Given the description of an element on the screen output the (x, y) to click on. 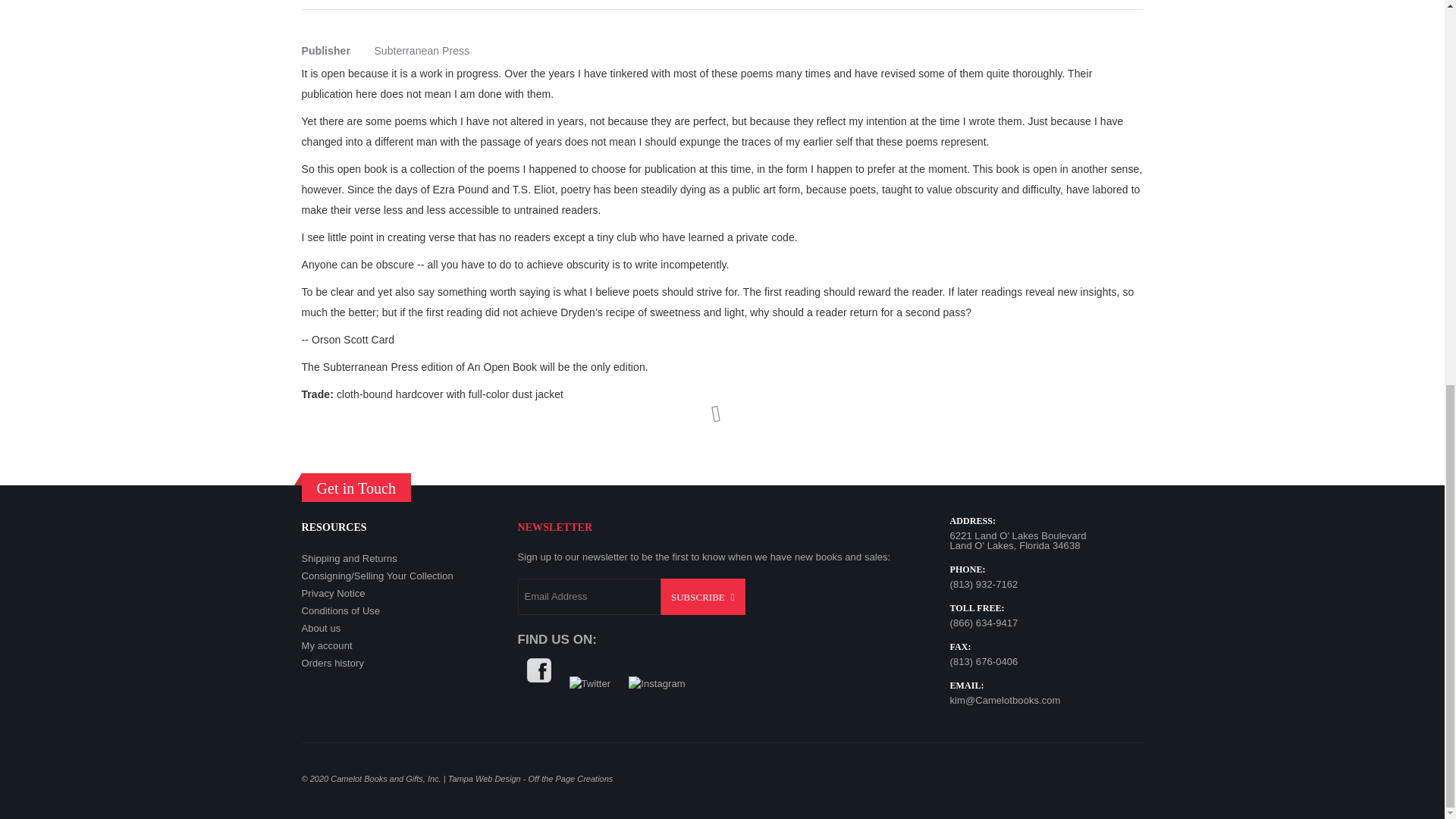
Privacy Notice (333, 593)
DETAILS (323, 4)
Privacy Notice (333, 593)
Shipping and Returns (349, 558)
Conditions of Use (340, 610)
My account (326, 645)
Subscribe (703, 596)
Orders history (333, 663)
About us (320, 627)
Conditions of Use (340, 610)
